Given the description of an element on the screen output the (x, y) to click on. 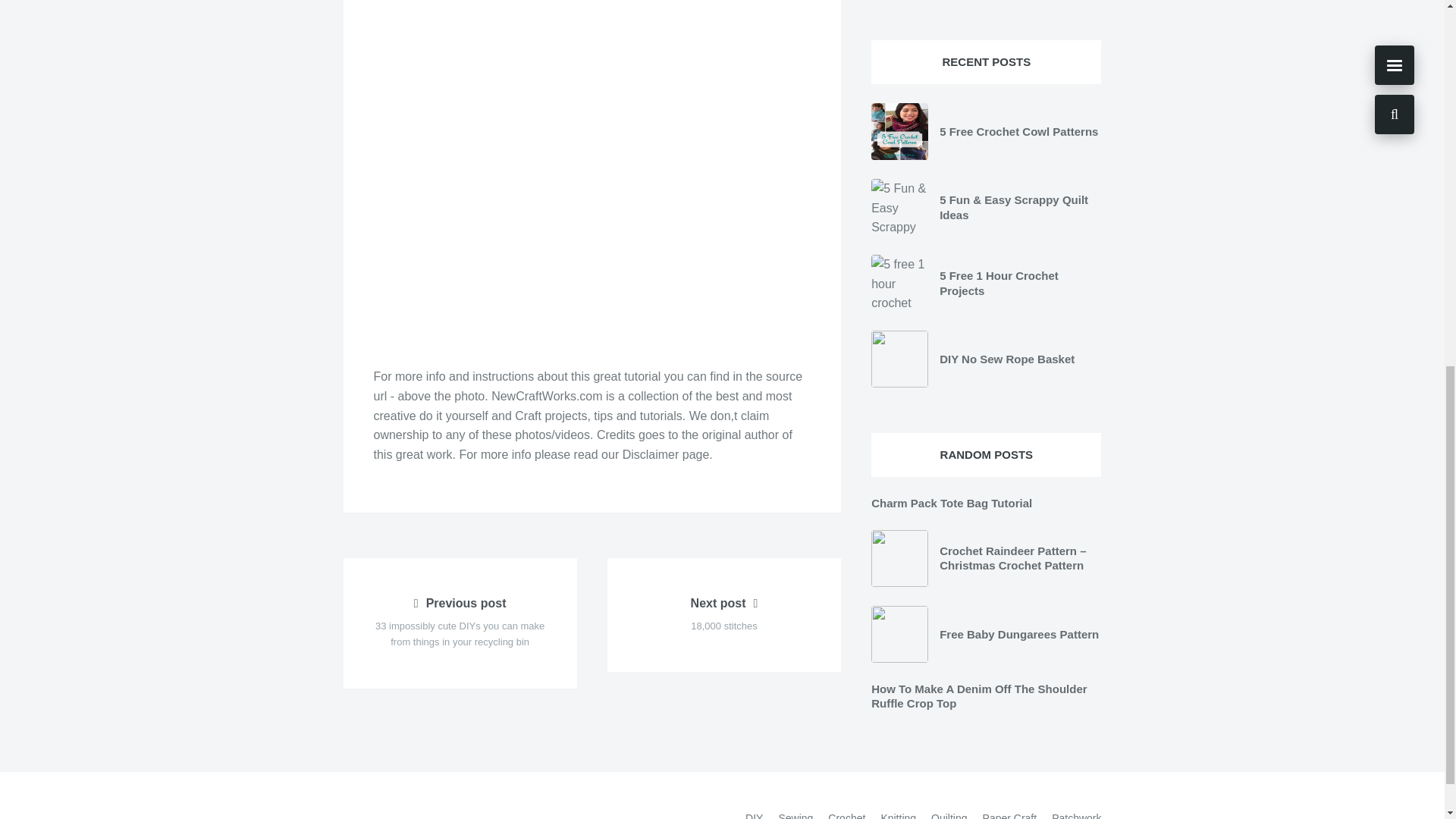
5 Free Crochet Cowl Patterns (1018, 131)
Charm Pack Tote Bag Tutorial (724, 614)
5 Free 1 Hour Crochet Projects (951, 502)
DIY No Sew Rope Basket (998, 283)
